Given the description of an element on the screen output the (x, y) to click on. 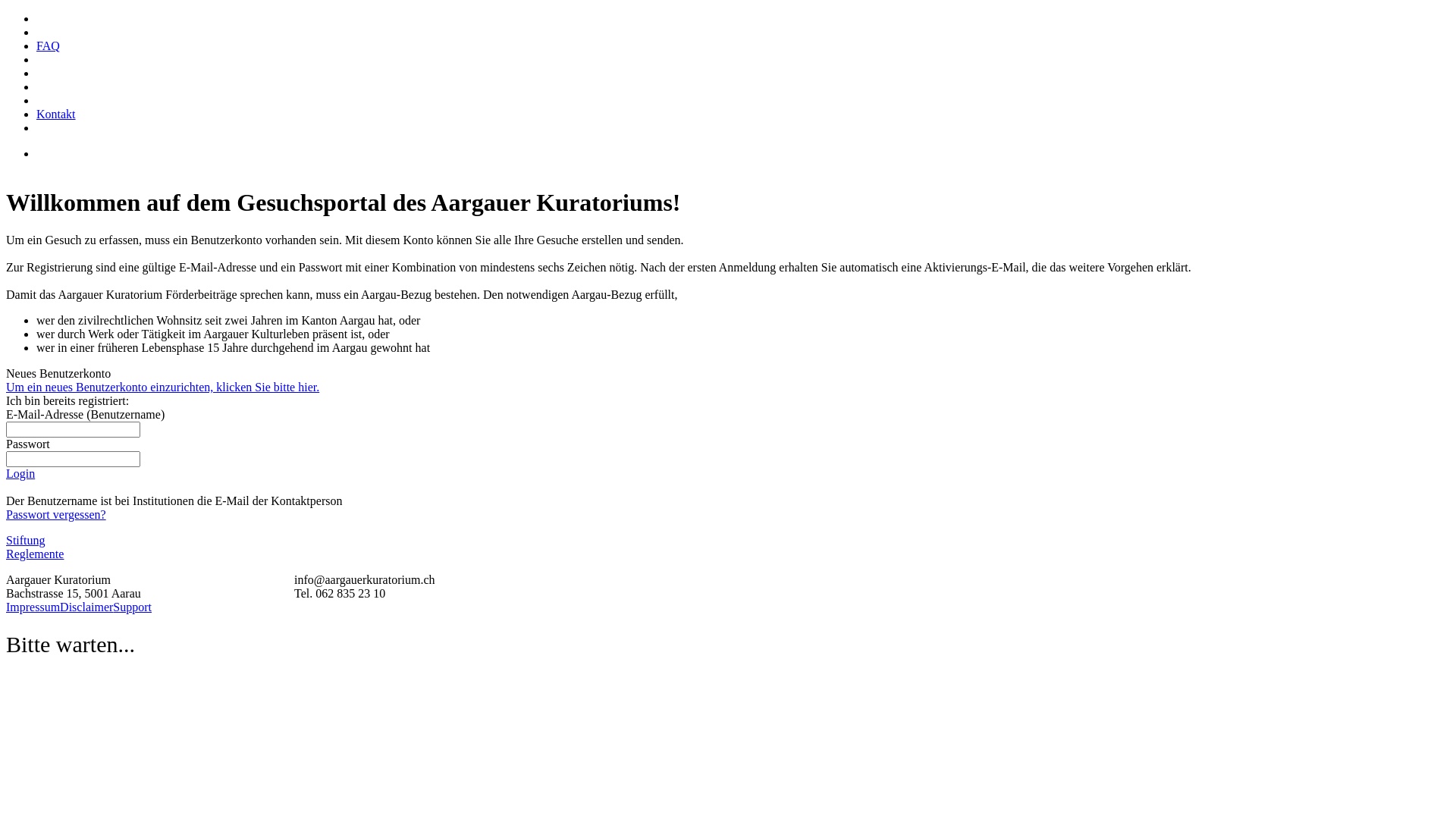
Support Element type: text (131, 606)
FAQ Element type: text (47, 45)
Passwort vergessen? Element type: text (56, 514)
Reglemente Element type: text (34, 553)
Kontakt Element type: text (55, 113)
Disclaimer Element type: text (85, 606)
Impressum Element type: text (32, 606)
Stiftung Element type: text (25, 539)
Login Element type: text (20, 473)
